Given the description of an element on the screen output the (x, y) to click on. 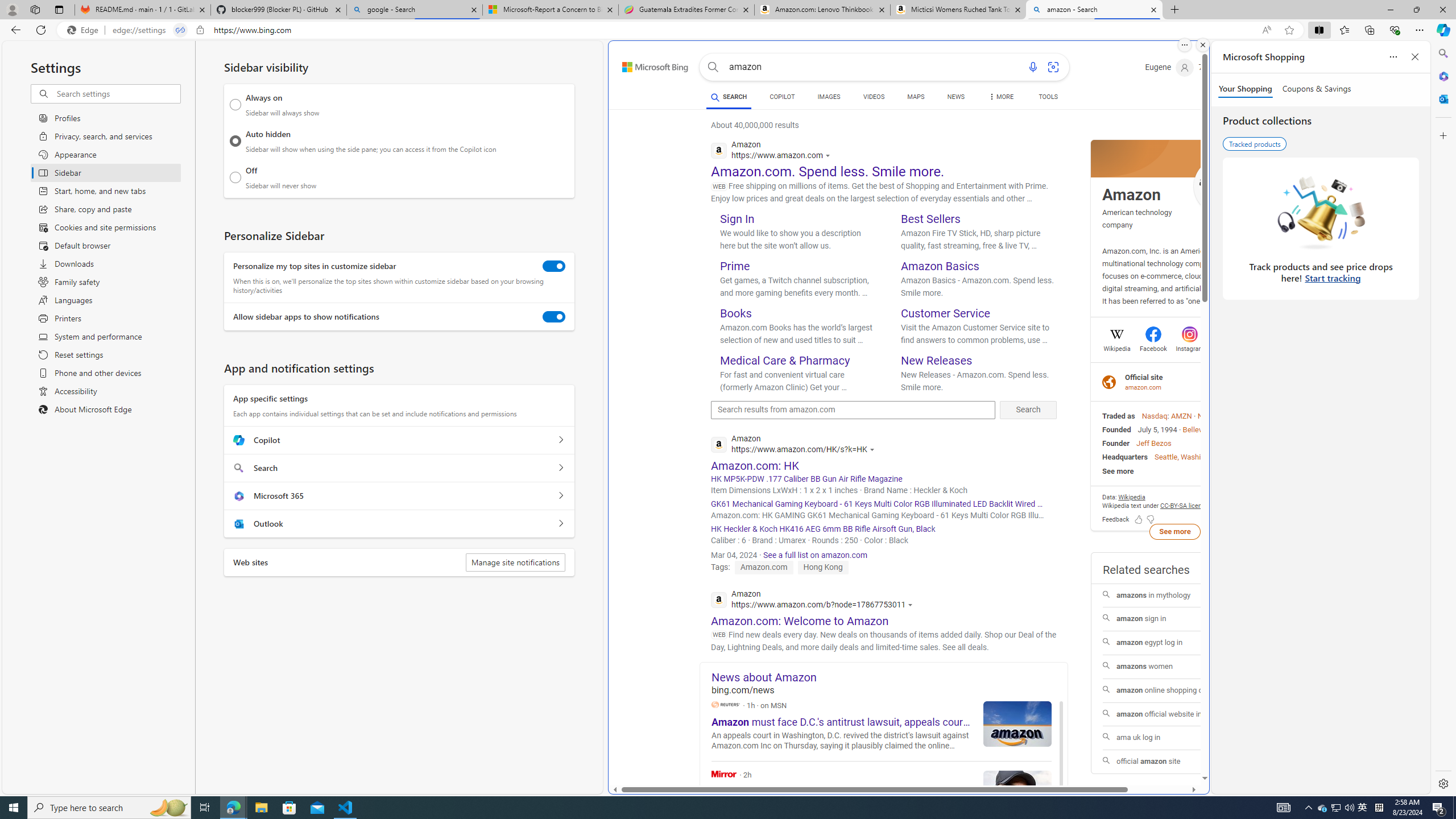
COPILOT (781, 96)
Data attribution Wikipedia (1131, 497)
Allow sidebar apps to show notifications (553, 316)
Nasdaq-100 (1217, 415)
Reuters on MSN.com (725, 704)
Instagram (1189, 347)
amazon online shopping department (1174, 690)
Skip to content (642, 63)
amazons women (1174, 666)
